Given the description of an element on the screen output the (x, y) to click on. 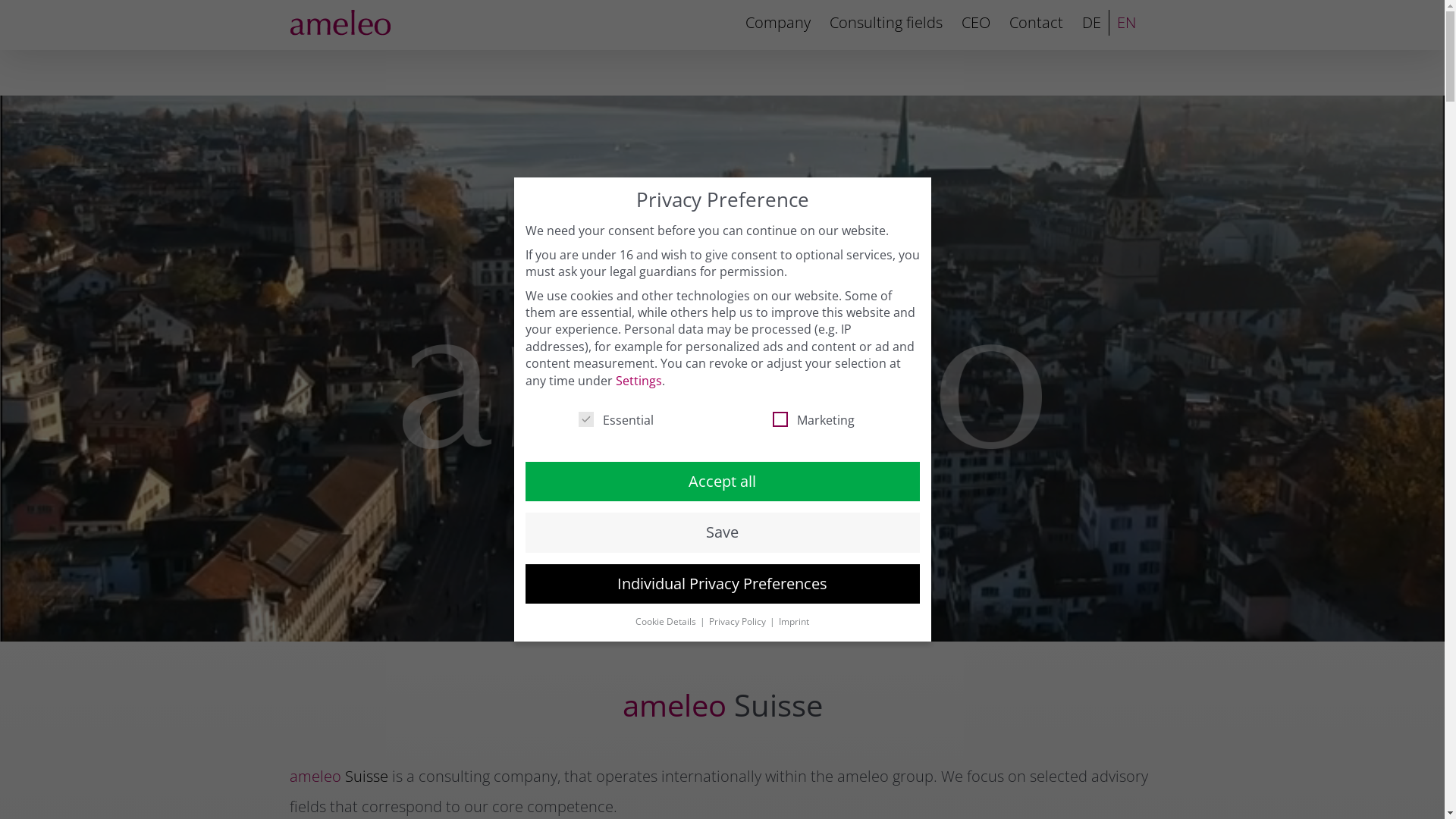
Consulting fields Element type: text (885, 22)
Company Element type: text (776, 22)
CEO Element type: text (975, 22)
Settings Element type: text (638, 380)
Privacy Policy Element type: text (738, 621)
Accept all Element type: text (721, 481)
Individual Privacy Preferences Element type: text (721, 583)
ameleo-start Element type: hover (722, 368)
DE Element type: text (1090, 22)
Cookie Details Element type: text (666, 621)
EN Element type: text (1125, 22)
Save Element type: text (721, 532)
Contact Element type: text (1035, 22)
Imprint Element type: text (793, 621)
